Given the description of an element on the screen output the (x, y) to click on. 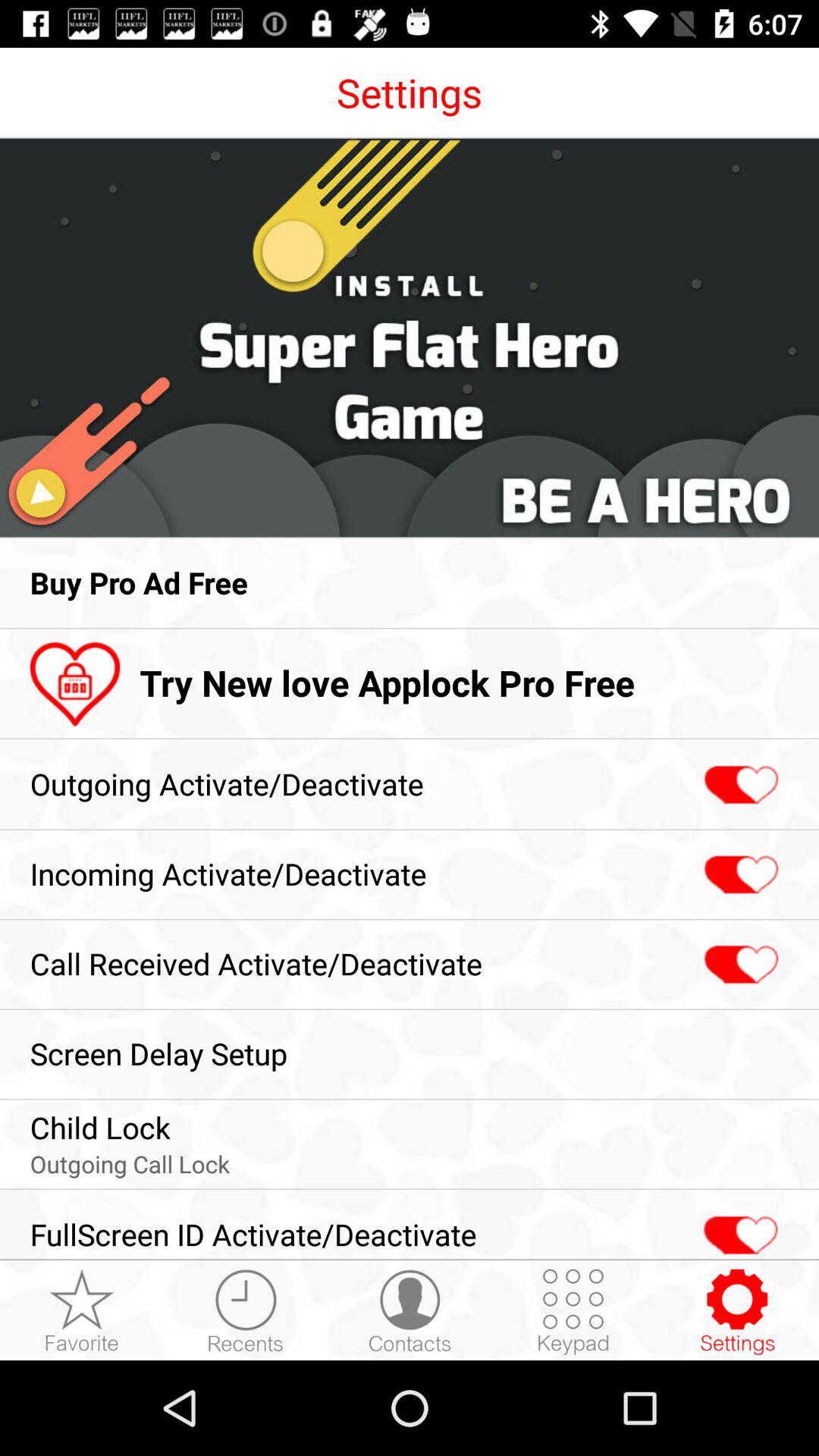
fullscreenidactivate (738, 1227)
